Given the description of an element on the screen output the (x, y) to click on. 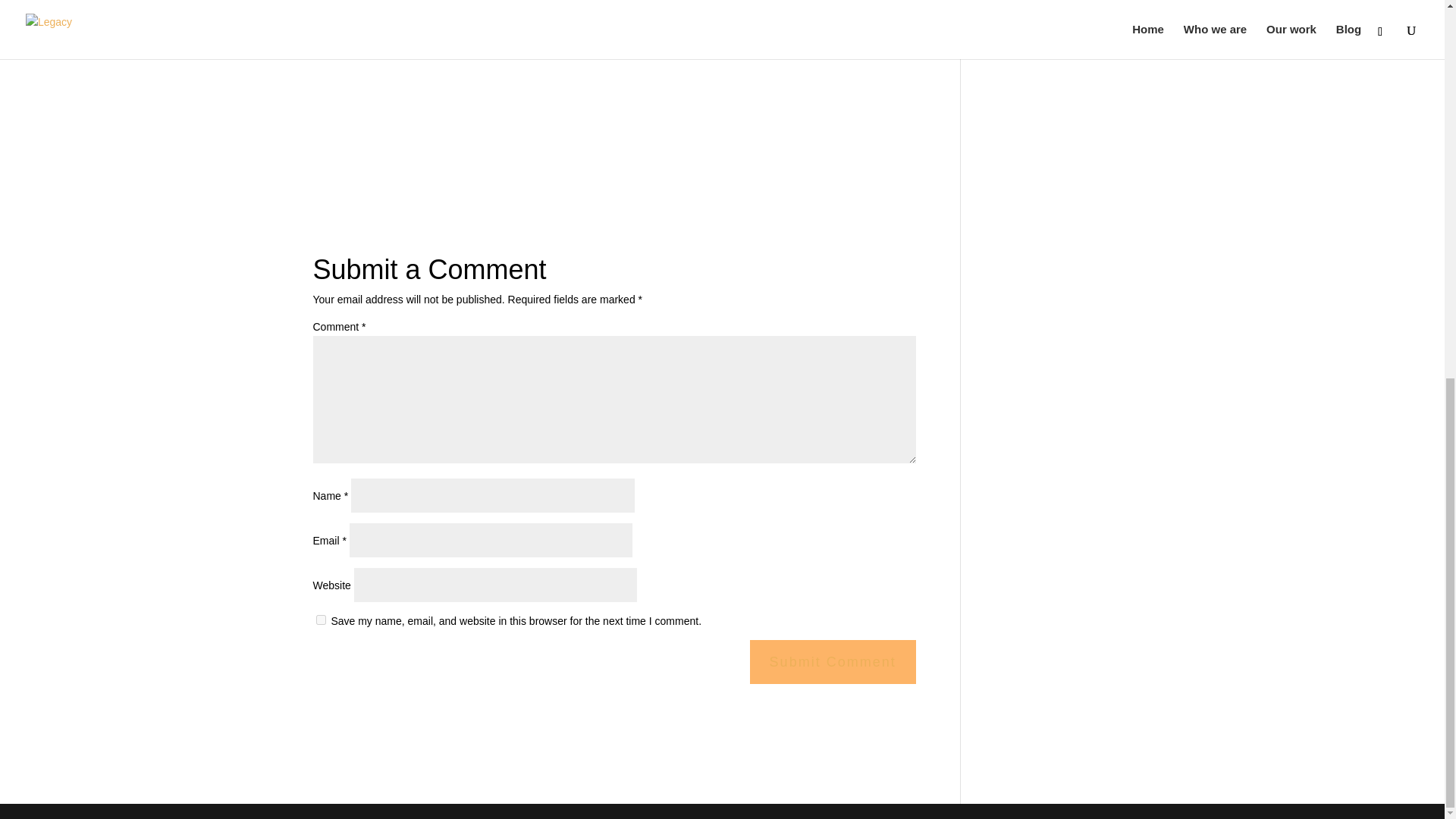
Submit Comment (832, 661)
Submit Comment (832, 661)
yes (319, 619)
